Given the description of an element on the screen output the (x, y) to click on. 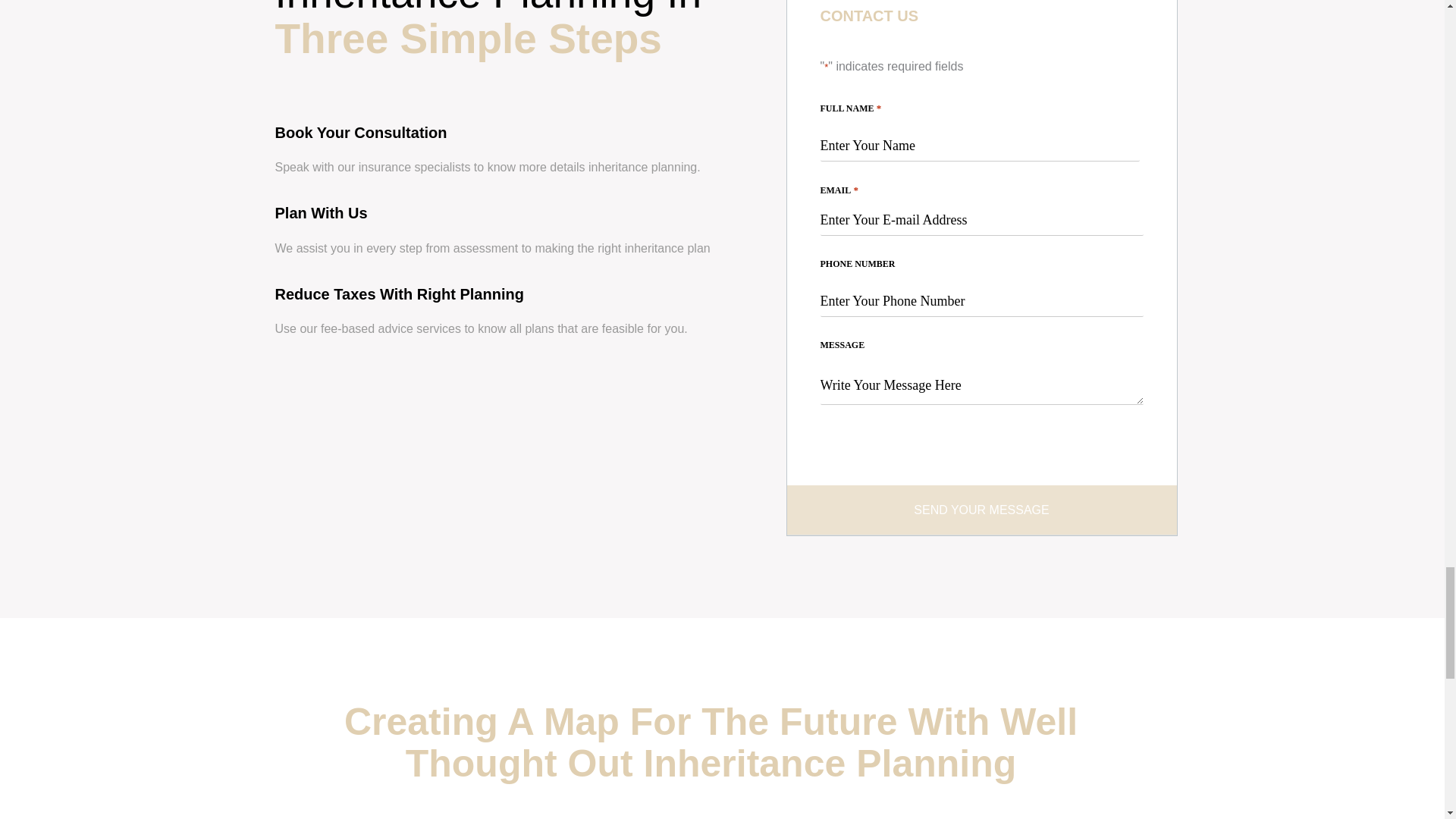
SEND YOUR MESSAGE (981, 510)
SEND YOUR MESSAGE (981, 510)
